Given the description of an element on the screen output the (x, y) to click on. 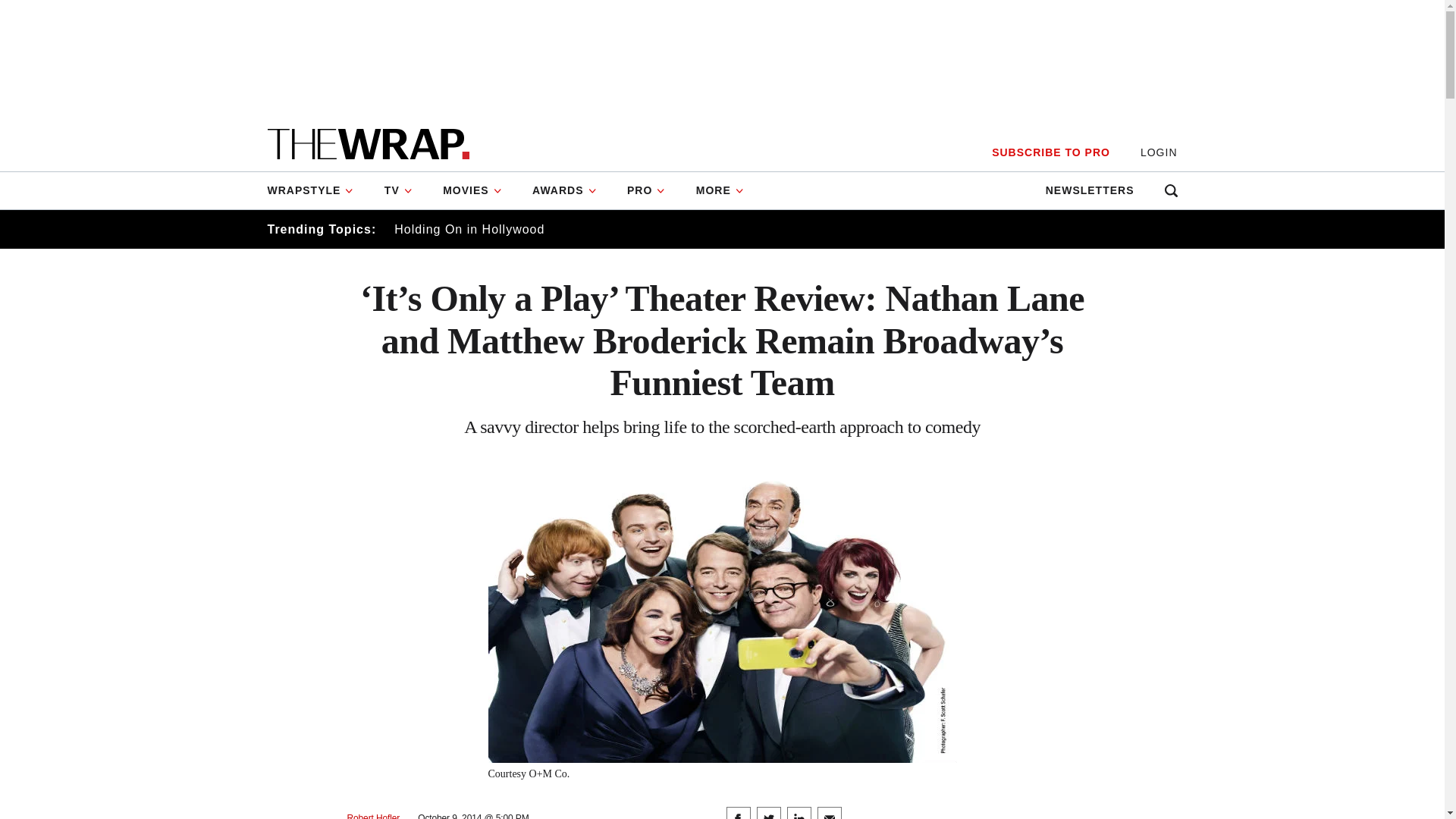
WRAPSTYLE (317, 190)
AWARDS (563, 190)
PRO (646, 190)
MORE (719, 190)
LOGIN (1158, 152)
MOVIES (472, 190)
SUBSCRIBE TO PRO (1050, 152)
Posts by Robert Hofler (373, 816)
TV (398, 190)
